Given the description of an element on the screen output the (x, y) to click on. 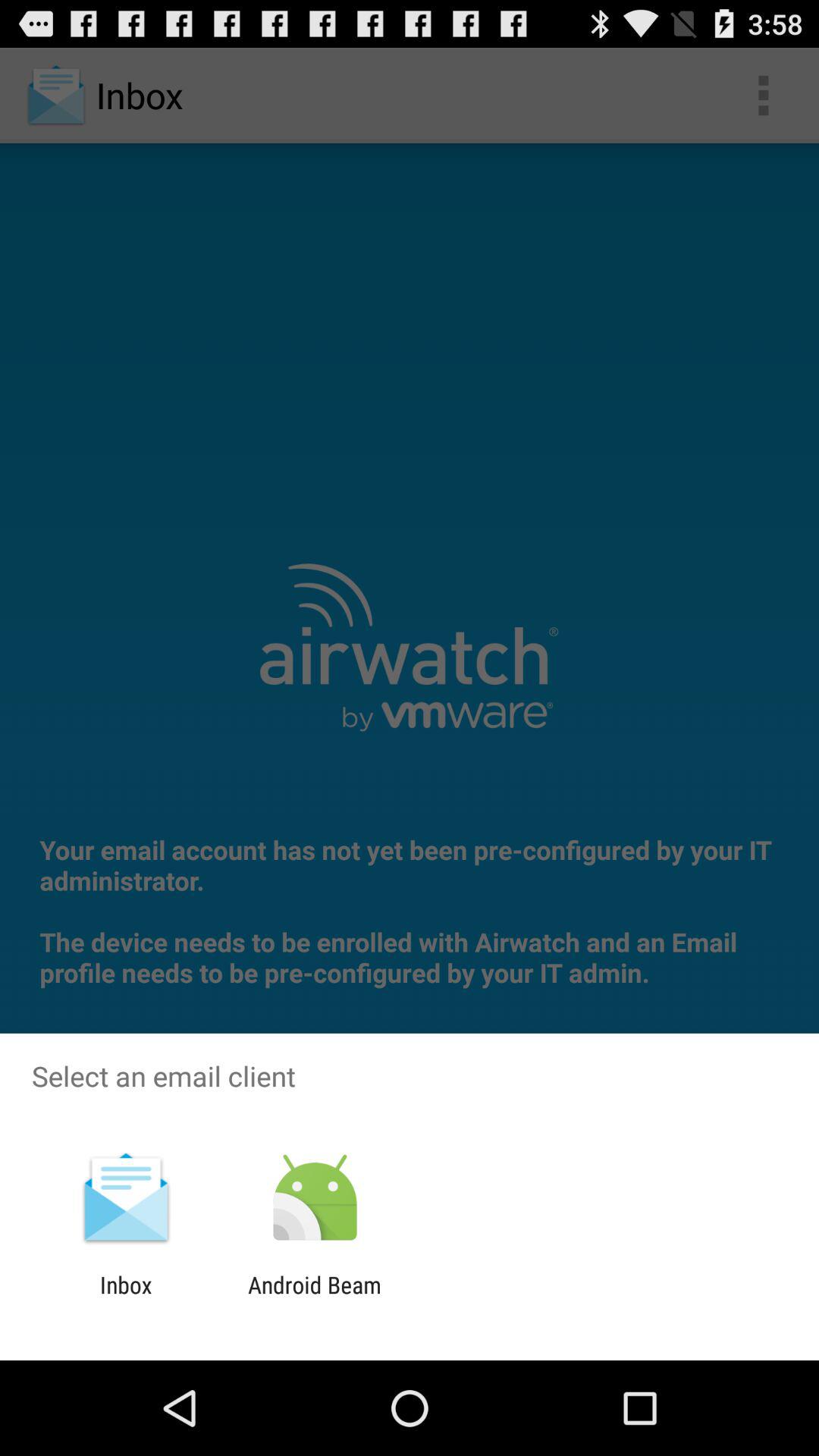
launch inbox item (125, 1298)
